Given the description of an element on the screen output the (x, y) to click on. 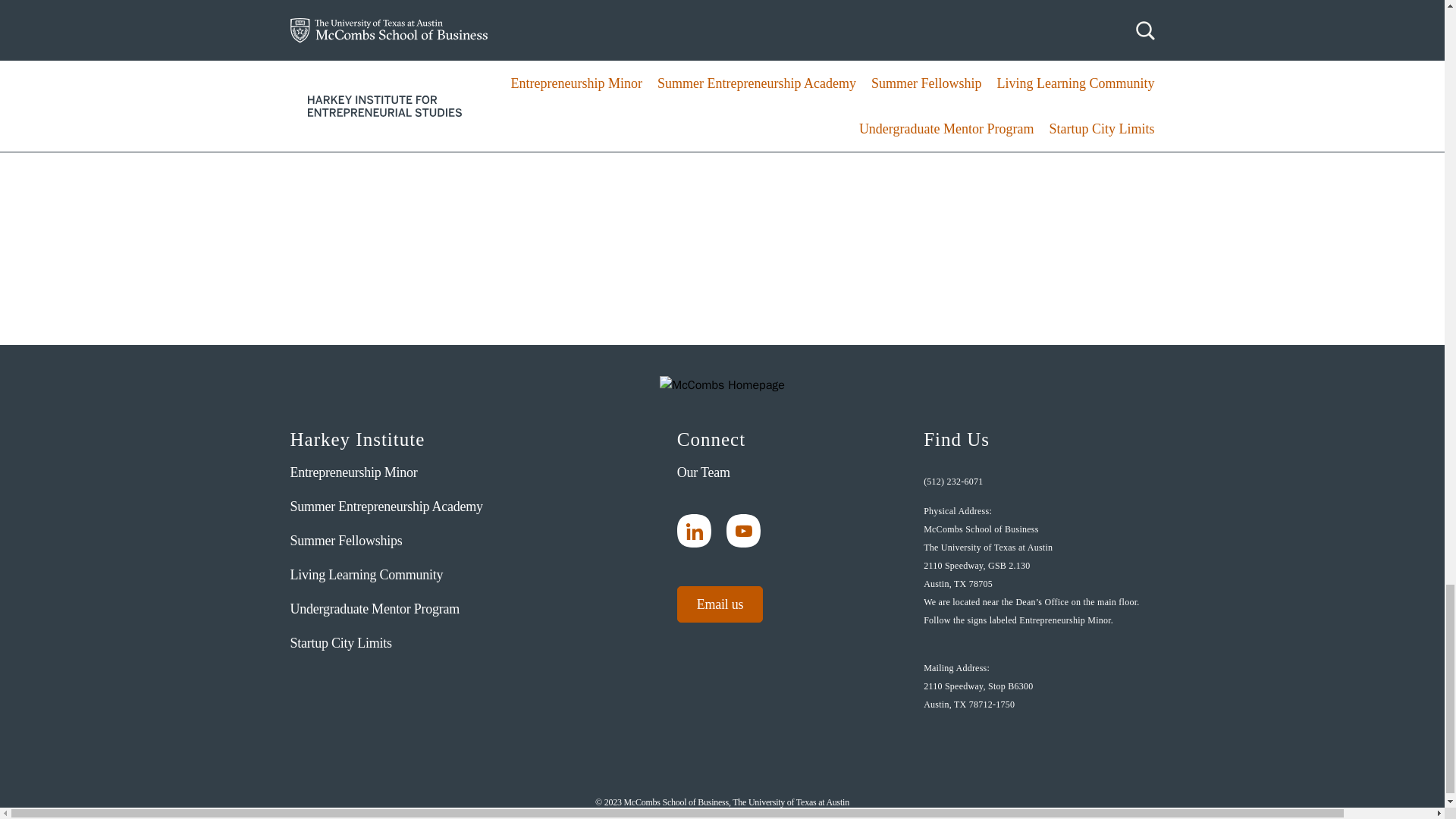
Phone Number (1030, 481)
LinkedIn (694, 530)
YouTube (743, 530)
University of Texas at Austin (408, 684)
Texas McCombs (721, 386)
